Given the description of an element on the screen output the (x, y) to click on. 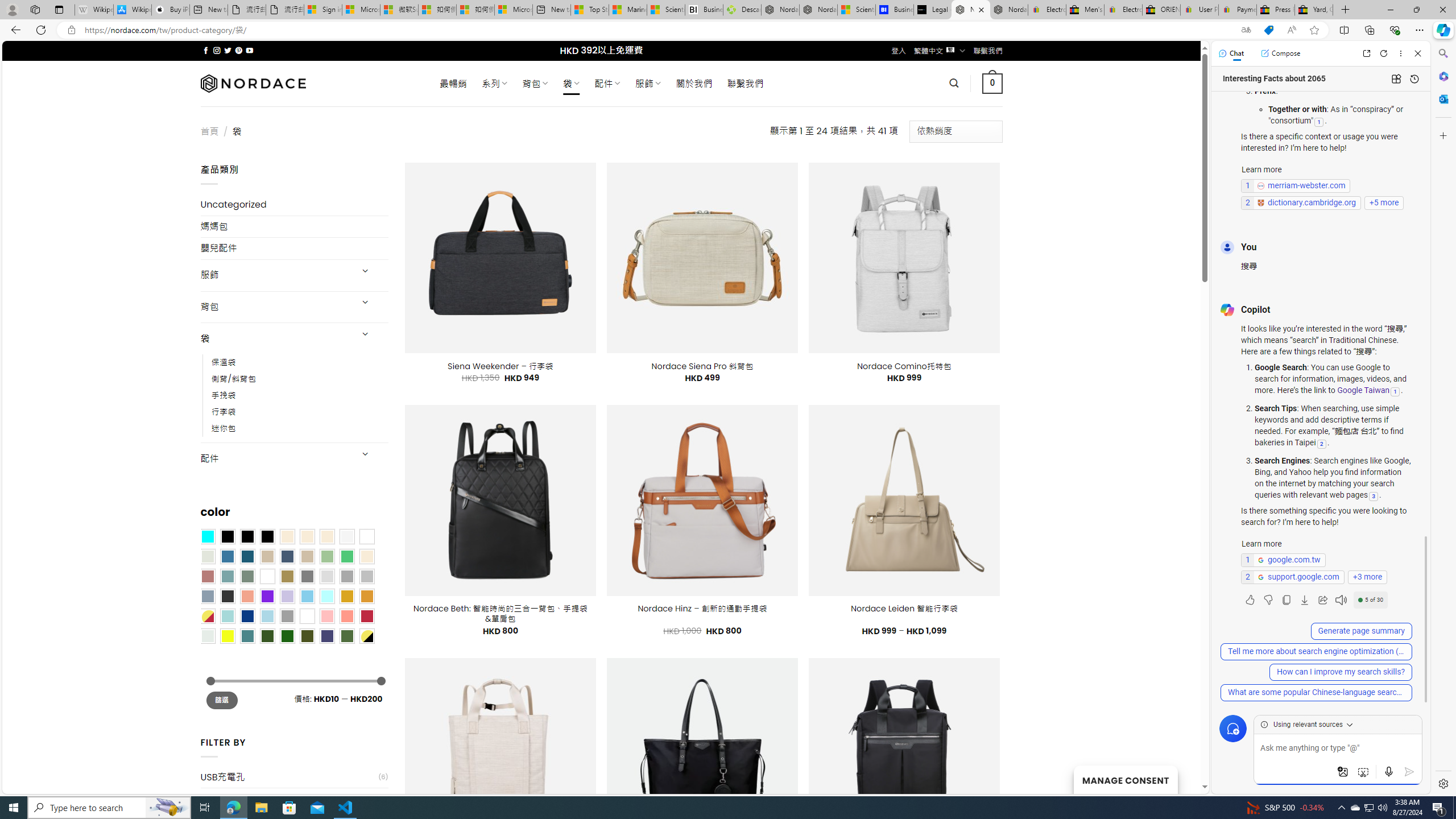
Follow on Twitter (227, 50)
Buy iPad - Apple (171, 9)
Chat (1231, 52)
Nordace - Summer Adventures 2024 (780, 9)
